Given the description of an element on the screen output the (x, y) to click on. 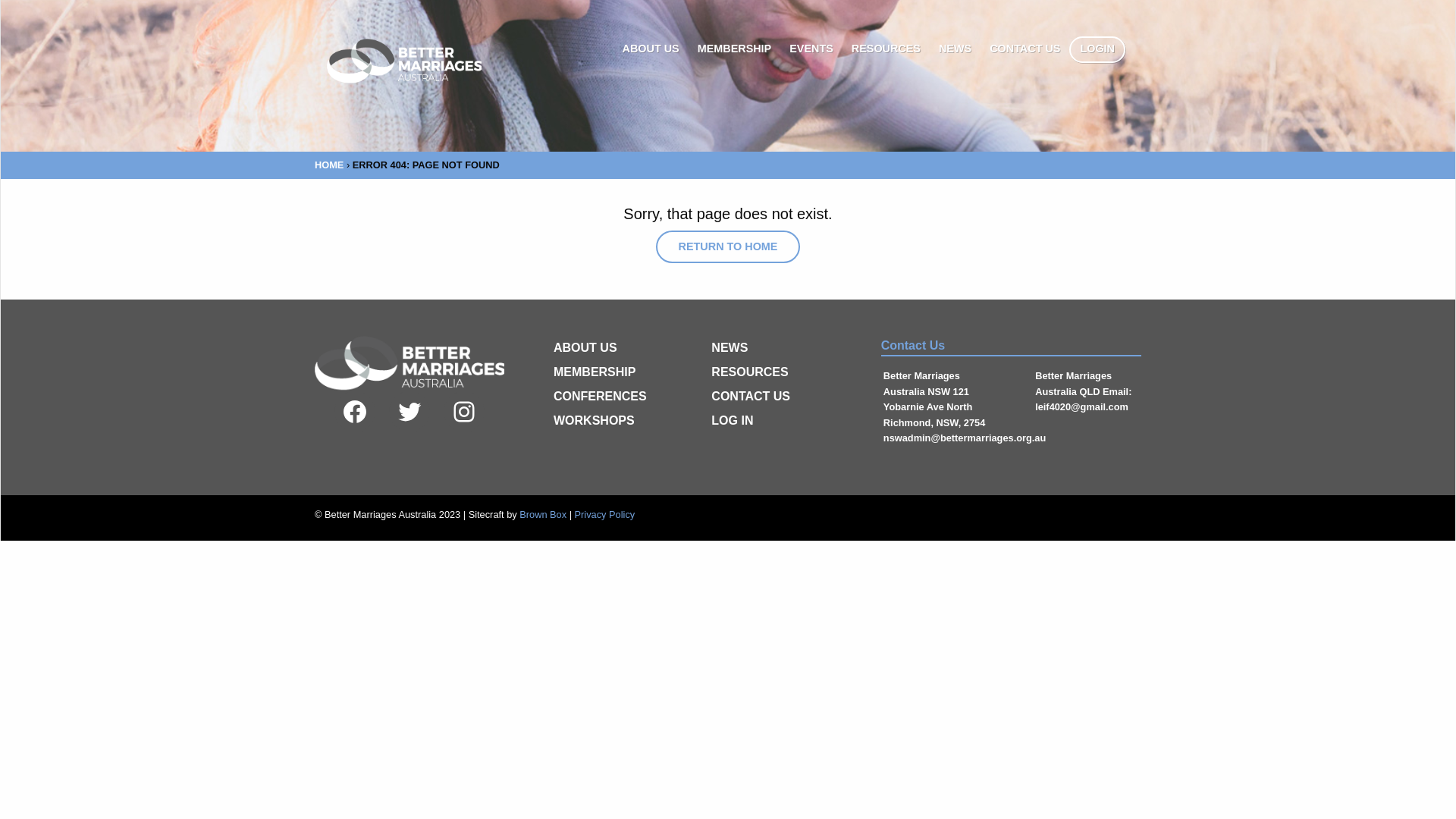
Twitter Element type: text (409, 411)
NEWS Element type: text (729, 347)
CONTACT US Element type: text (750, 395)
WORKSHOPS Element type: text (593, 420)
Contact Us Element type: text (1011, 346)
NEWS Element type: text (954, 49)
CONFERENCES Element type: text (599, 395)
LOGIN Element type: text (1096, 49)
CONTACT US Element type: text (1024, 49)
EVENTS Element type: text (811, 49)
Search Element type: text (25, 9)
LOG IN Element type: text (732, 420)
HOME Element type: text (328, 164)
ABOUT US Element type: text (585, 347)
MEMBERSHIP Element type: text (734, 49)
RETURN TO HOME Element type: text (727, 246)
RESOURCES Element type: text (885, 49)
Privacy Policy Element type: text (604, 514)
RESOURCES Element type: text (749, 371)
Instagram Element type: text (463, 411)
Facebook Element type: text (354, 411)
Brown Box Element type: text (542, 514)
MEMBERSHIP Element type: text (594, 371)
ABOUT US Element type: text (650, 49)
